Given the description of an element on the screen output the (x, y) to click on. 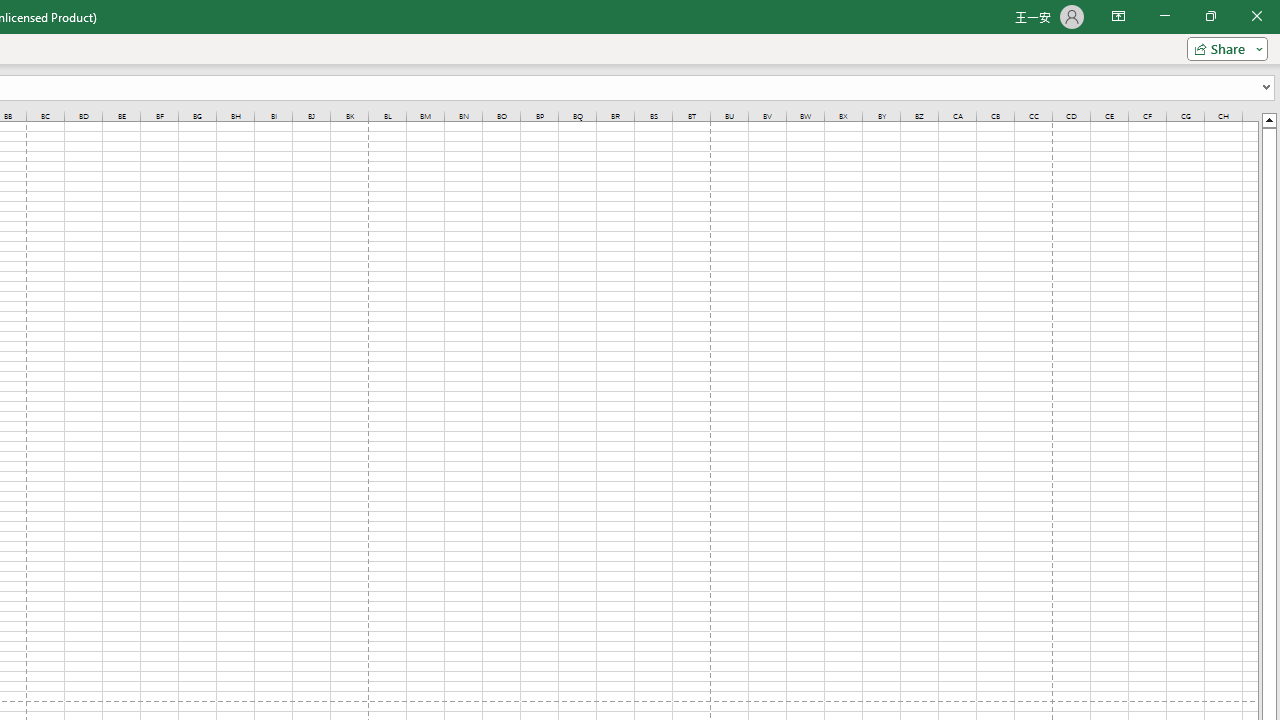
Restore Down (1210, 16)
